Given the description of an element on the screen output the (x, y) to click on. 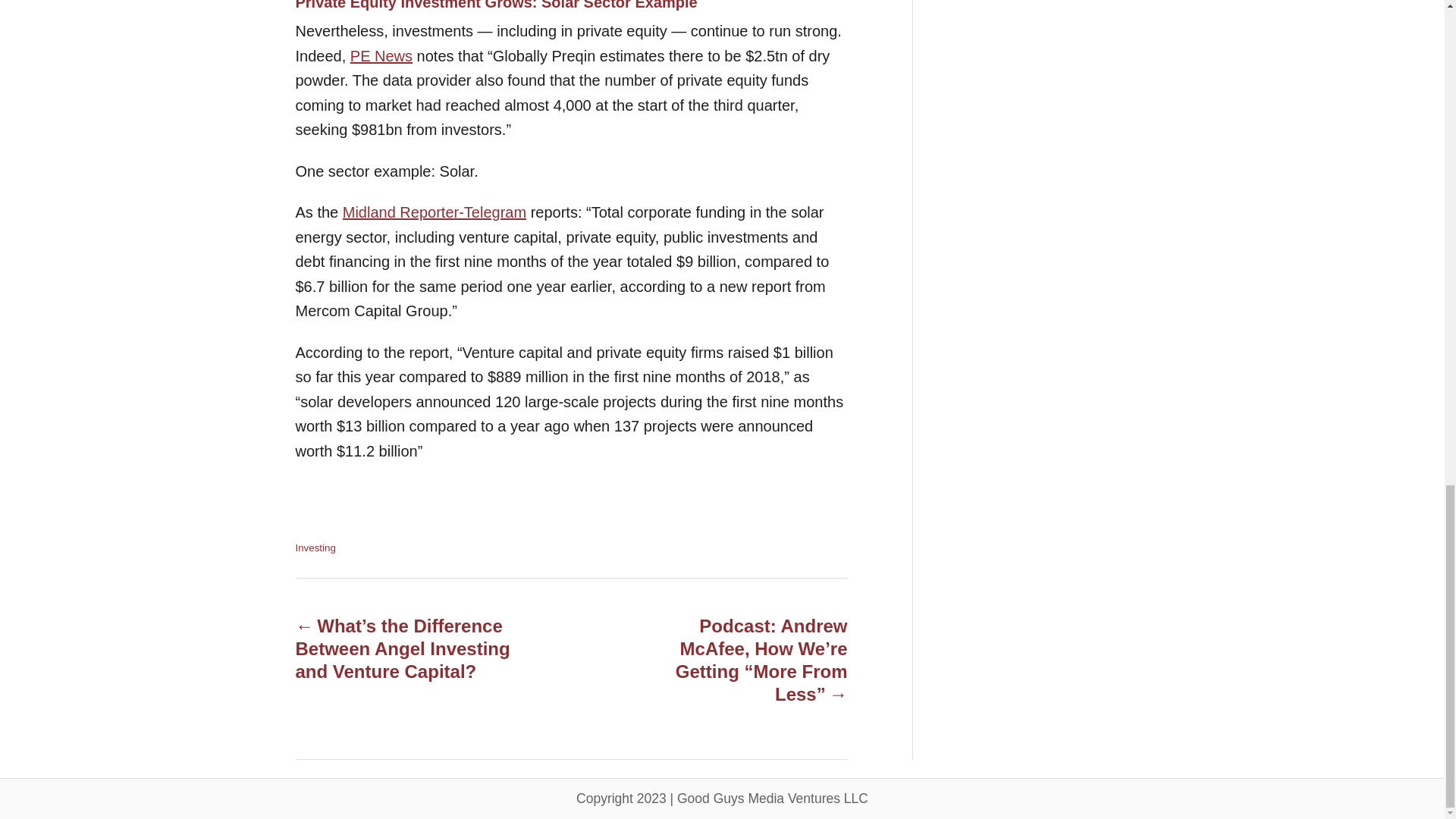
PE News (381, 54)
Investing (315, 546)
Midland Reporter-Telegram (433, 211)
